Given the description of an element on the screen output the (x, y) to click on. 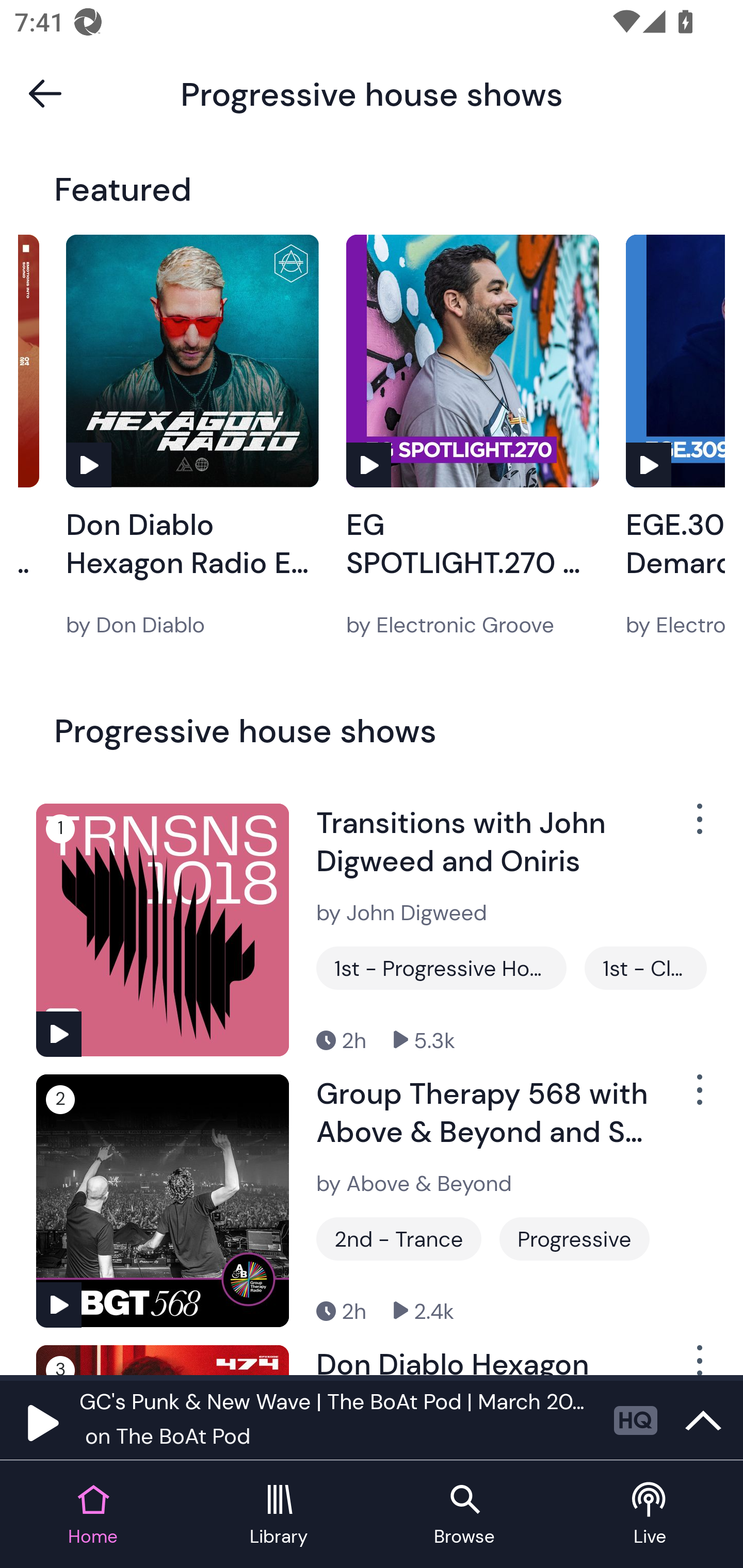
Show Options Menu Button (697, 825)
1st - Progressive House (441, 968)
1st - Club (645, 968)
Show Options Menu Button (697, 1097)
2nd - Trance (398, 1238)
Progressive (574, 1238)
Show Options Menu Button (697, 1360)
Home tab Home (92, 1515)
Library tab Library (278, 1515)
Browse tab Browse (464, 1515)
Live tab Live (650, 1515)
